Given the description of an element on the screen output the (x, y) to click on. 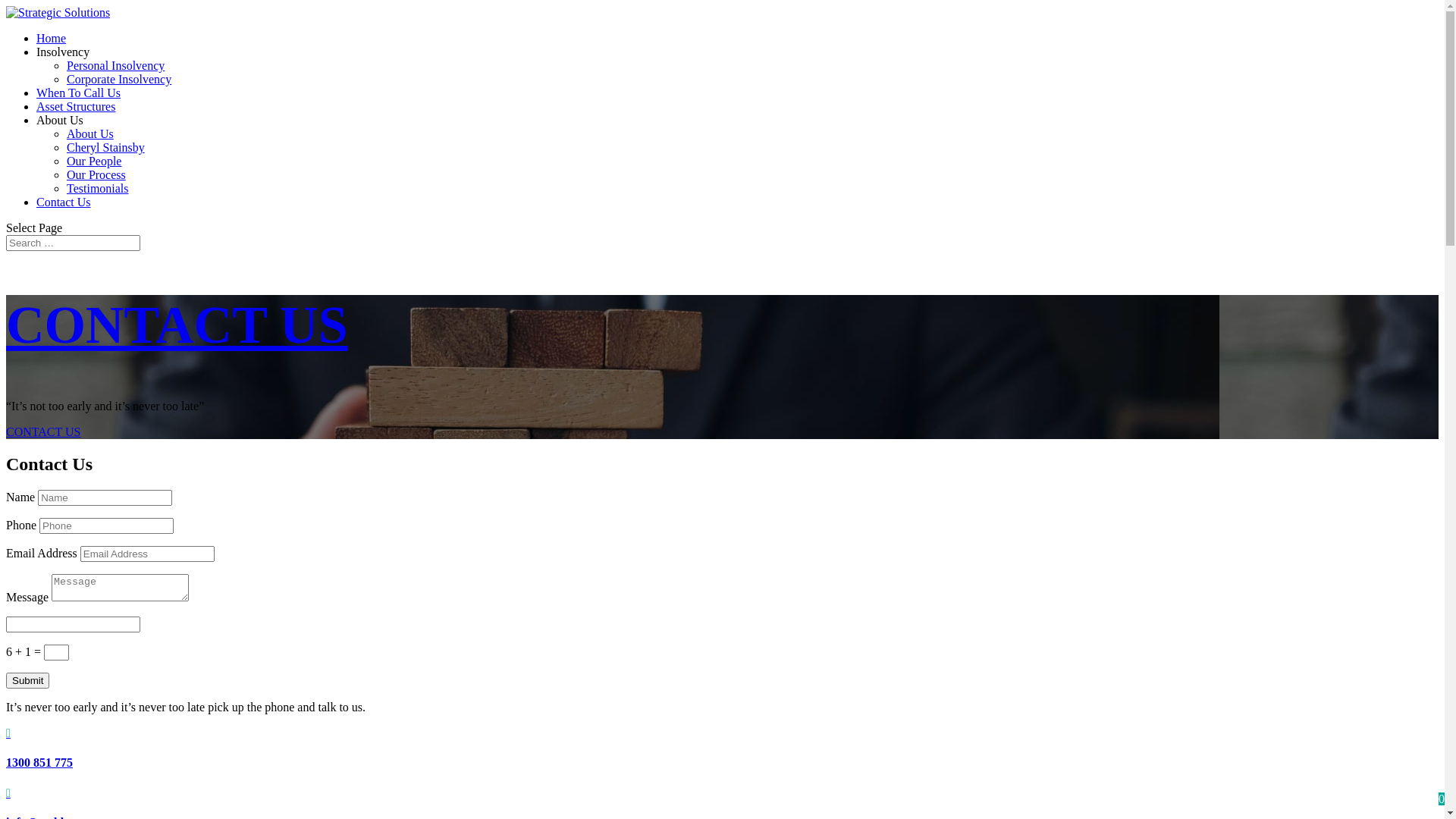
1300 851 775 Element type: text (39, 762)
Corporate Insolvency Element type: text (118, 78)
When To Call Us Element type: text (78, 92)
Submit Element type: text (27, 680)
CONTACT US Element type: text (177, 324)
Contact Us Element type: text (63, 201)
Personal Insolvency Element type: text (115, 65)
About Us Element type: text (89, 133)
Asset Structures Element type: text (75, 106)
About Us Element type: text (59, 119)
Cheryl Stainsby Element type: text (105, 147)
Testimonials Element type: text (97, 188)
Home Element type: text (50, 37)
CONTACT US Element type: text (43, 431)
Our People Element type: text (93, 160)
Insolvency Element type: text (62, 51)
Our Process Element type: text (95, 174)
Search for: Element type: hover (73, 243)
